Given the description of an element on the screen output the (x, y) to click on. 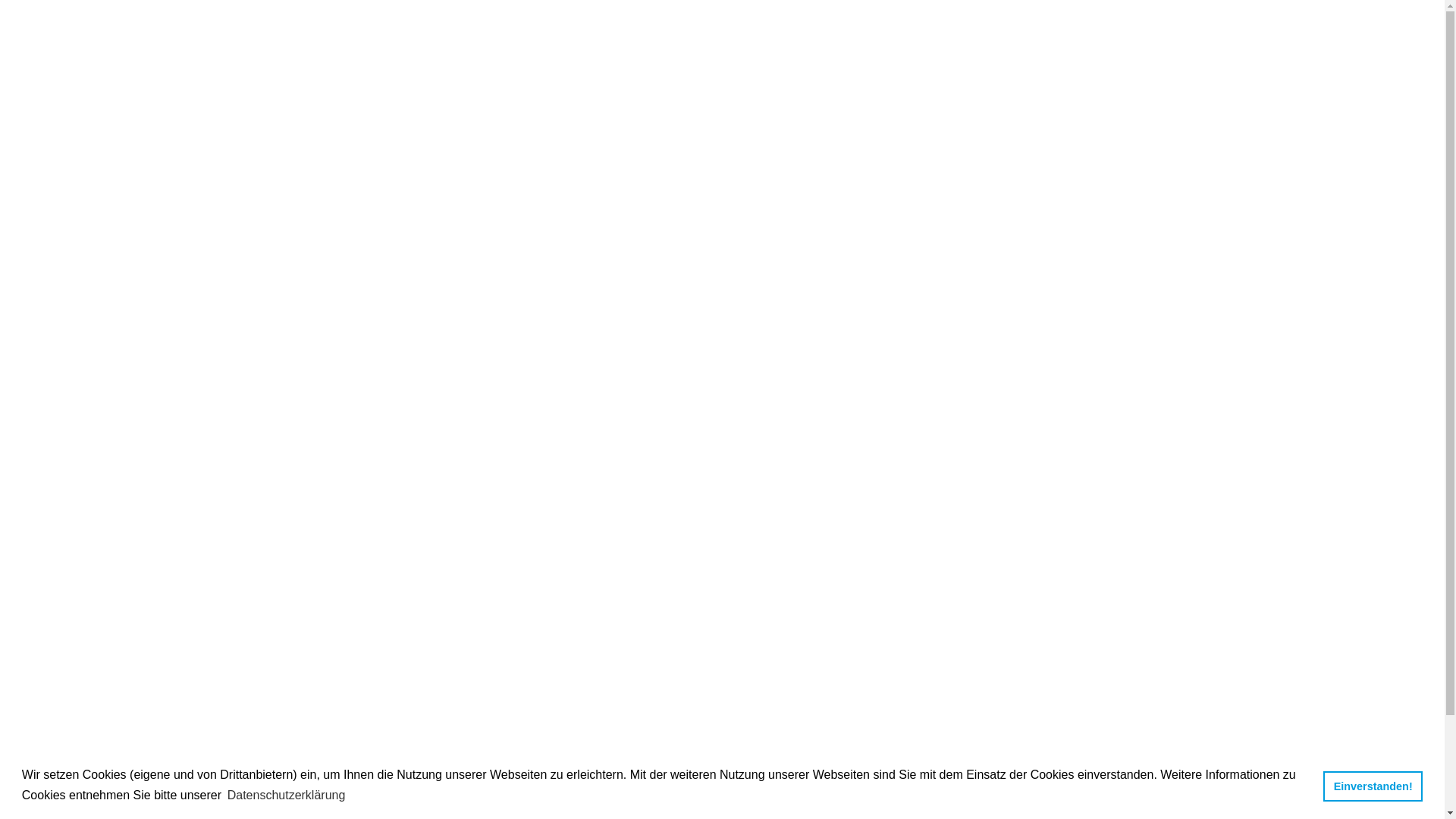
Einverstanden! Element type: text (1372, 786)
